Given the description of an element on the screen output the (x, y) to click on. 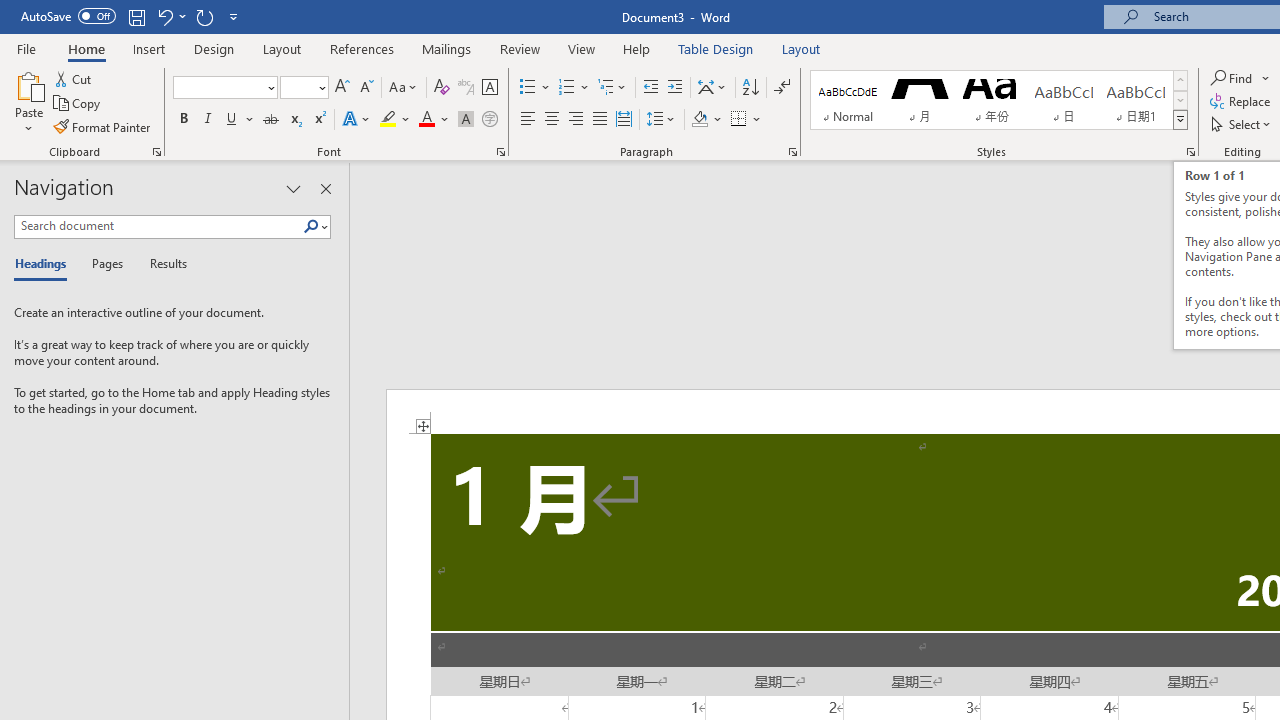
Font Color RGB(255, 0, 0) (426, 119)
Undo Distribute Para (164, 15)
